Given the description of an element on the screen output the (x, y) to click on. 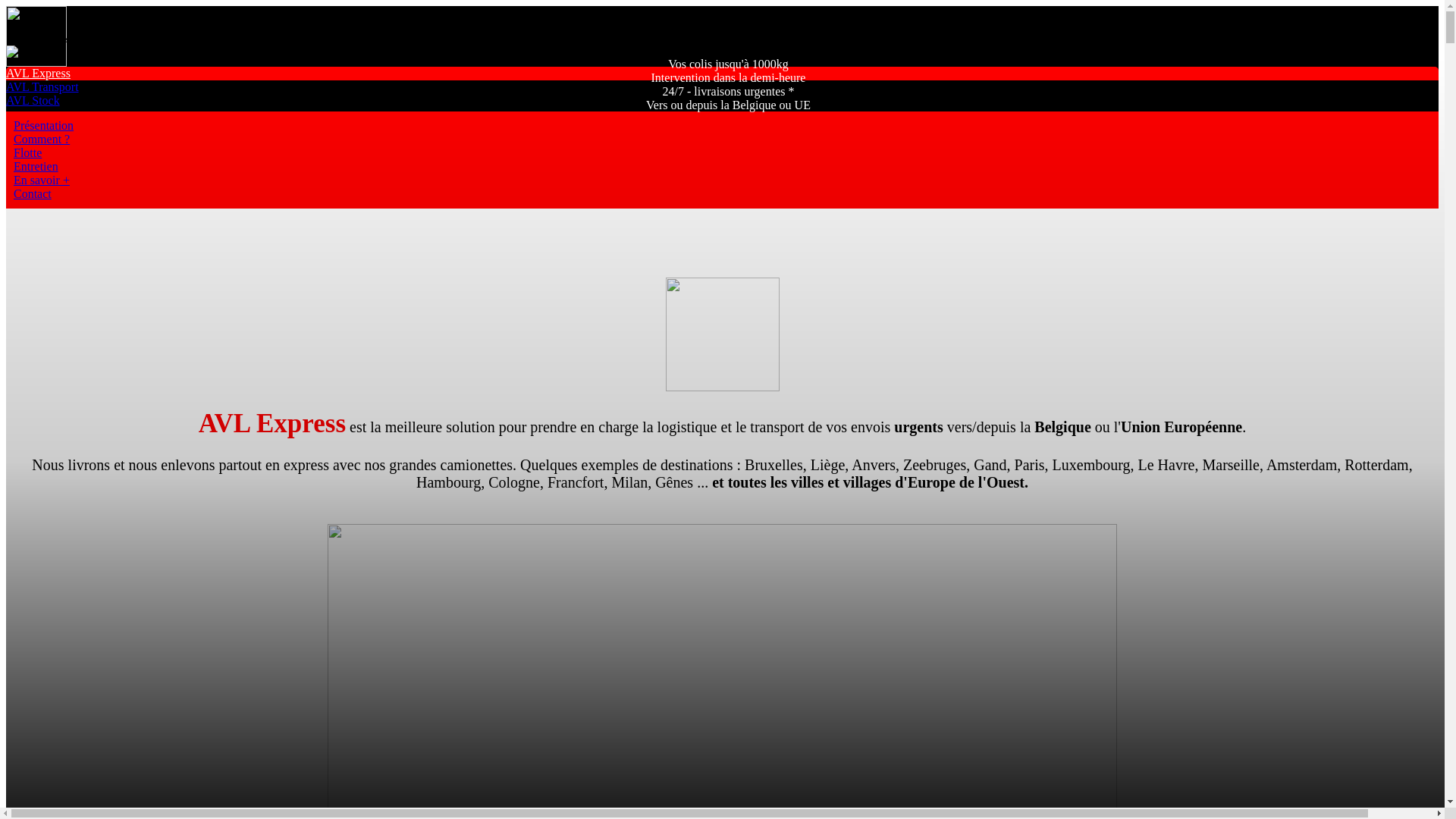
En savoir + Element type: text (41, 179)
AVL Stock Element type: text (32, 100)
Comment ? Element type: text (41, 138)
AVL Transport Element type: text (42, 86)
Entretien Element type: text (35, 166)
AVL Express Element type: text (38, 72)
Contact Element type: text (32, 193)
Flotte Element type: text (27, 152)
